Given the description of an element on the screen output the (x, y) to click on. 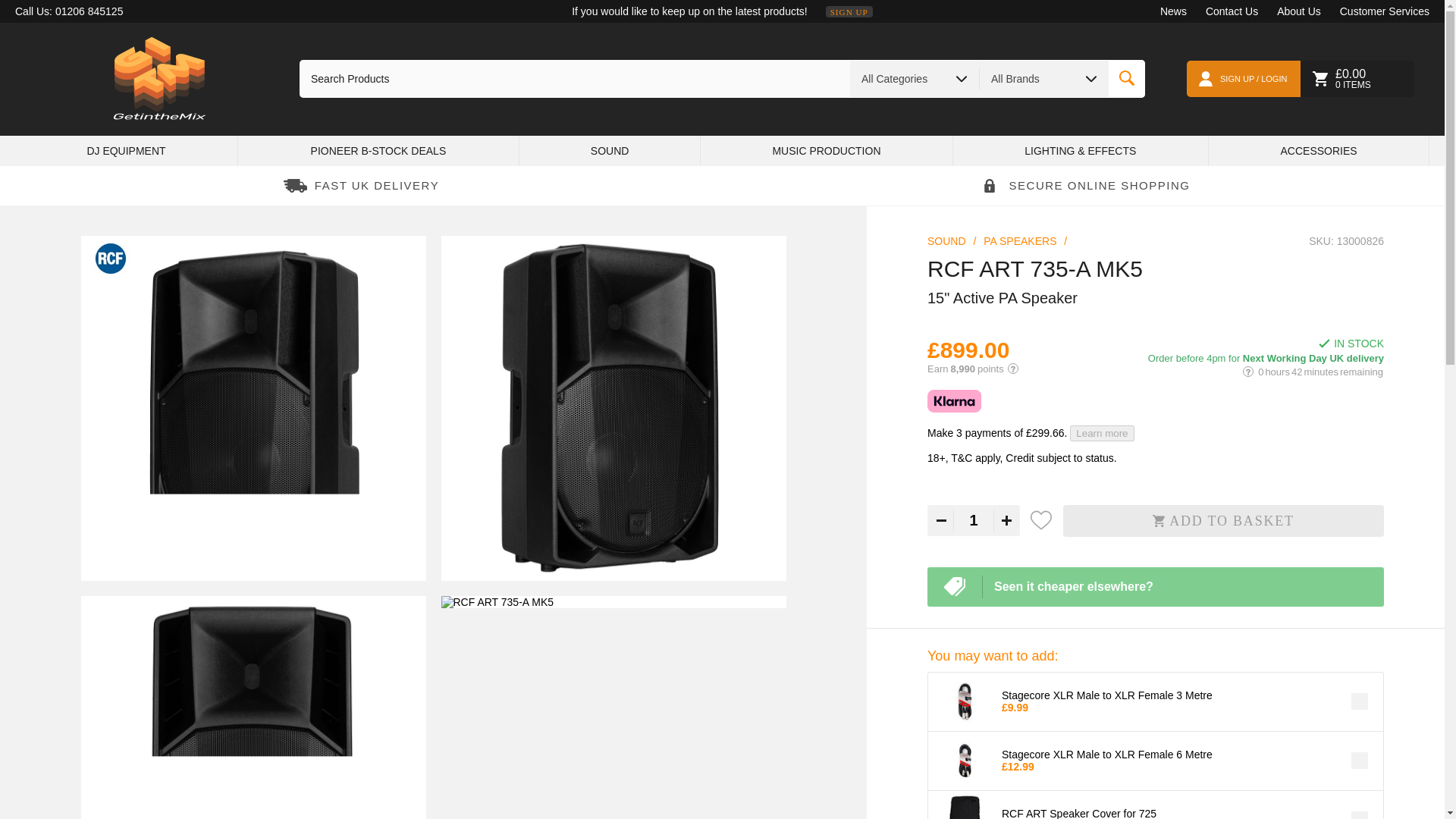
RCF ART 735-A MK5 (252, 407)
Stagecore XLR Male to XLR Female 3 Metre  (964, 701)
DJ Equipment (125, 150)
All Brands (1043, 78)
Accessories (1317, 150)
RCF ART 735-A MK5 (613, 602)
RCF ART 735-A MK5 (613, 407)
RCF ART 735-A MK5 (252, 707)
All Categories (914, 78)
RCF ART Speaker Cover for 725 (964, 806)
